Given the description of an element on the screen output the (x, y) to click on. 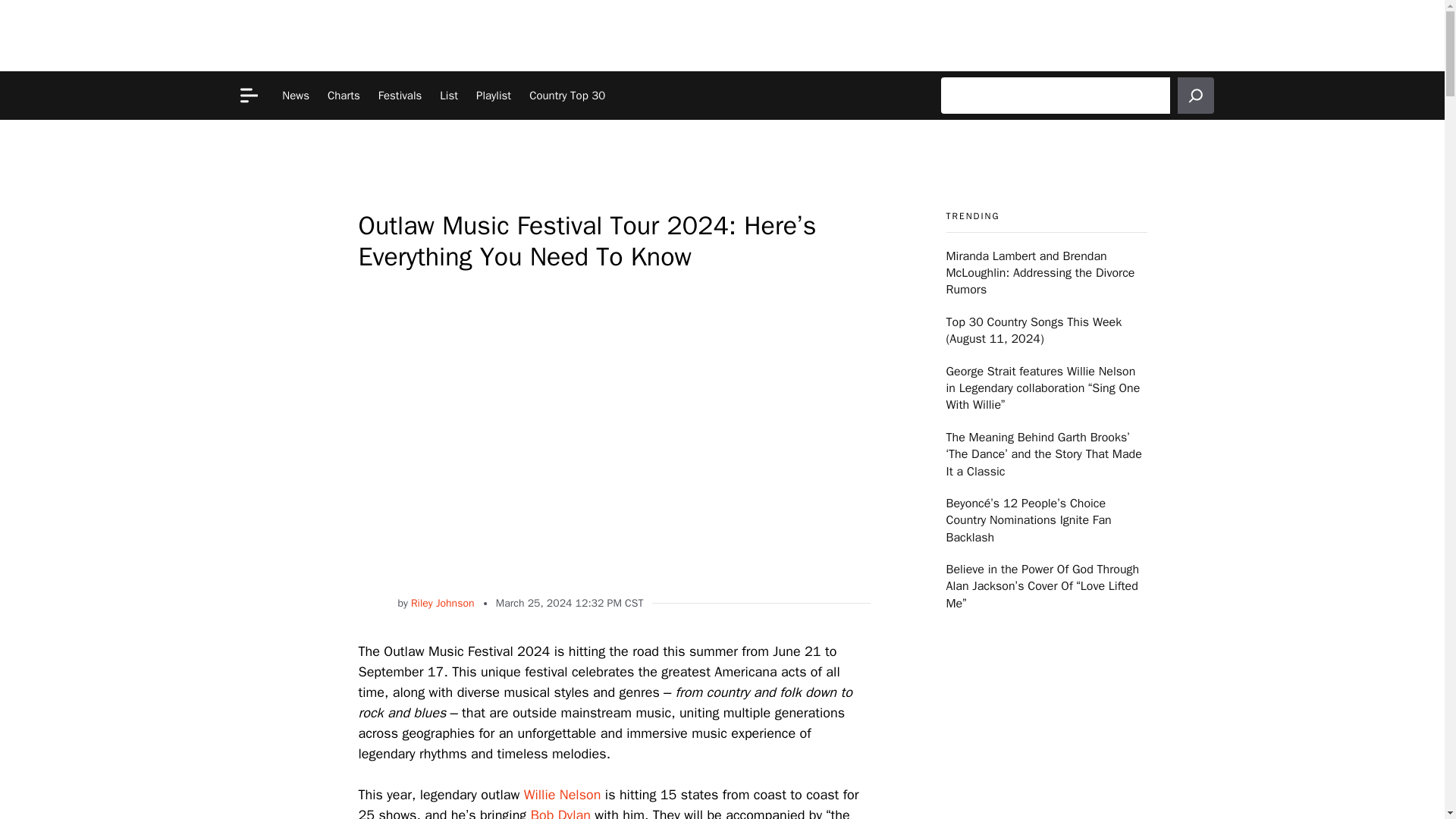
Riley Johnson (442, 603)
Festivals (400, 95)
Country Top 30 (567, 95)
